Given the description of an element on the screen output the (x, y) to click on. 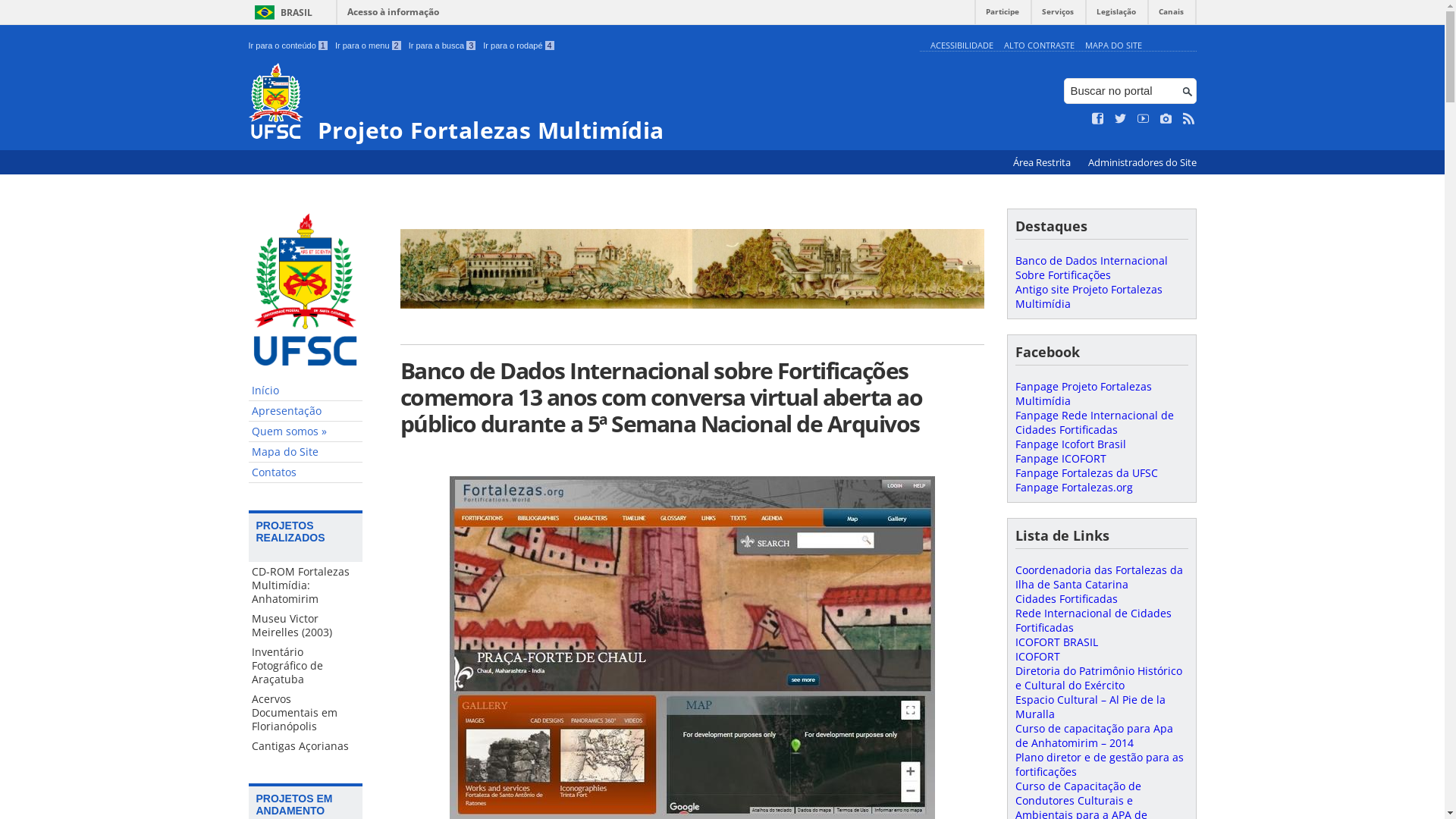
Fanpage Rede Internacional de Cidades Fortificadas Element type: text (1093, 421)
ALTO CONTRASTE Element type: text (1039, 44)
Veja no Instagram Element type: hover (1166, 118)
Curta no Facebook Element type: hover (1098, 118)
Fanpage Fortalezas da UFSC Element type: text (1085, 472)
Coordenadoria das Fortalezas da Ilha de Santa Catarina Element type: text (1098, 576)
Ir para a busca 3 Element type: text (442, 45)
Fanpage Fortalezas.org Element type: text (1073, 487)
Ir para o menu 2 Element type: text (368, 45)
BRASIL Element type: text (280, 12)
ACESSIBILIDADE Element type: text (960, 44)
Participe Element type: text (1002, 15)
Mapa do Site Element type: text (305, 452)
Administradores do Site Element type: text (1141, 162)
Canais Element type: text (1171, 15)
Contatos Element type: text (305, 472)
Cidades Fortificadas Element type: text (1065, 598)
MAPA DO SITE Element type: text (1112, 44)
Siga no Twitter Element type: hover (1120, 118)
Rede Internacional de Cidades Fortificadas Element type: text (1092, 619)
ICOFORT Element type: text (1036, 656)
Fanpage Icofort Brasil Element type: text (1069, 443)
tentativa2 Element type: hover (692, 268)
ICOFORT BRASIL Element type: text (1055, 641)
Fanpage ICOFORT Element type: text (1059, 458)
Museu Victor Meirelles (2003) Element type: text (305, 625)
